Given the description of an element on the screen output the (x, y) to click on. 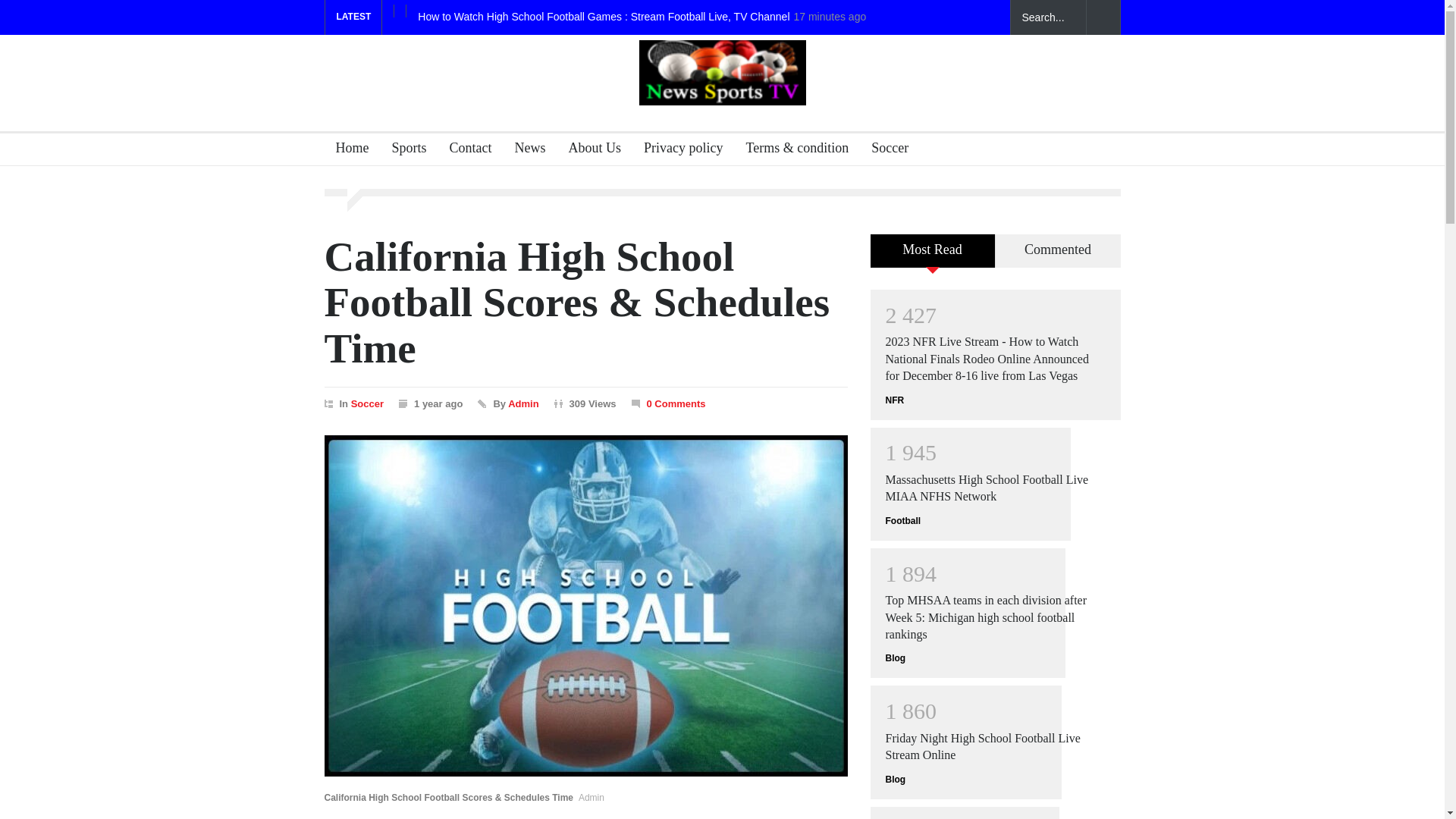
Categories (403, 149)
Contact (465, 149)
envato (986, 16)
Privacy policy (676, 149)
facebook (907, 16)
Search... (1048, 17)
About Us (589, 149)
Search... (1048, 17)
mail (960, 16)
twitter (932, 16)
Home (346, 149)
0 Comments (675, 403)
newssportstv (722, 92)
